Given the description of an element on the screen output the (x, y) to click on. 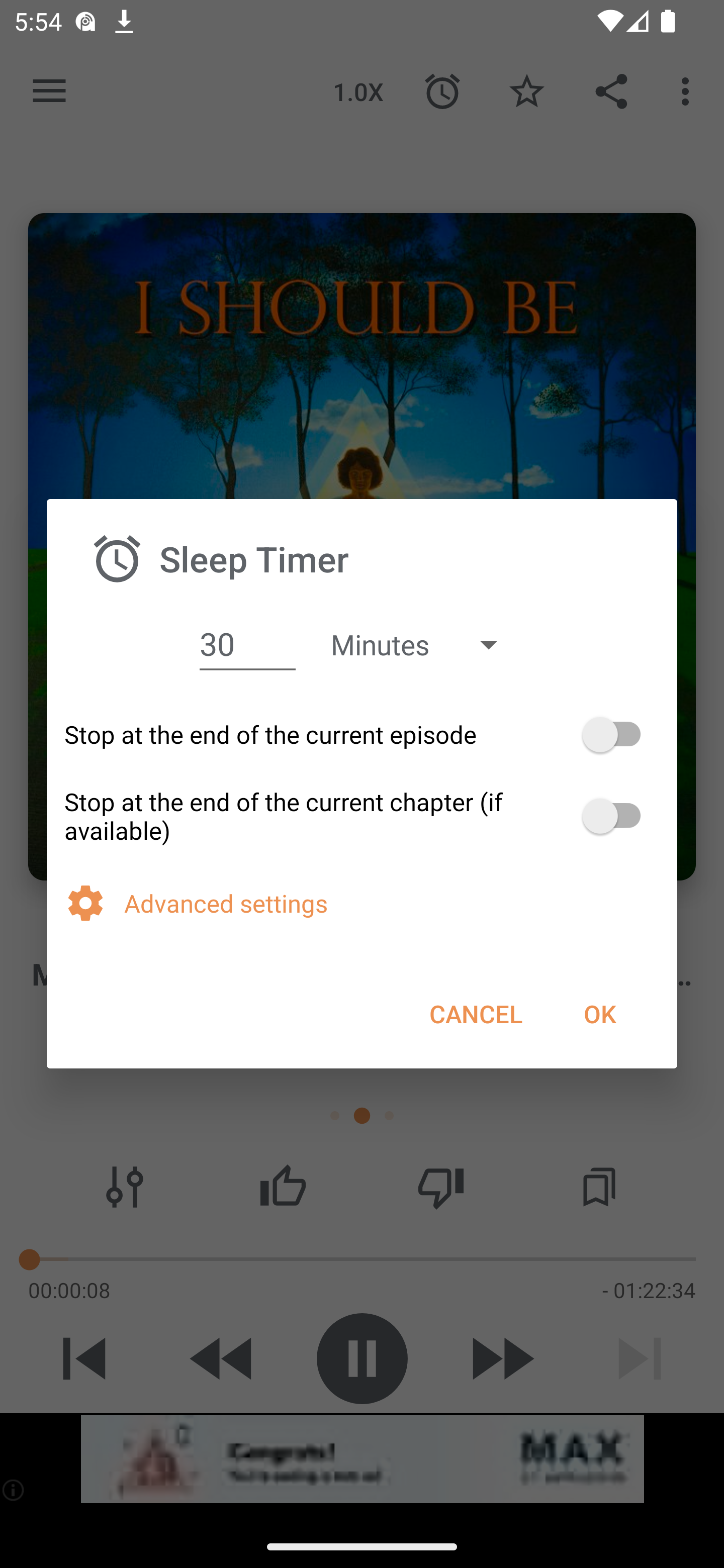
30 (247, 644)
Minutes (423, 643)
Stop at the end of the current episode (361, 734)
Advanced settings (391, 902)
CANCEL (475, 1013)
OK (599, 1013)
